Given the description of an element on the screen output the (x, y) to click on. 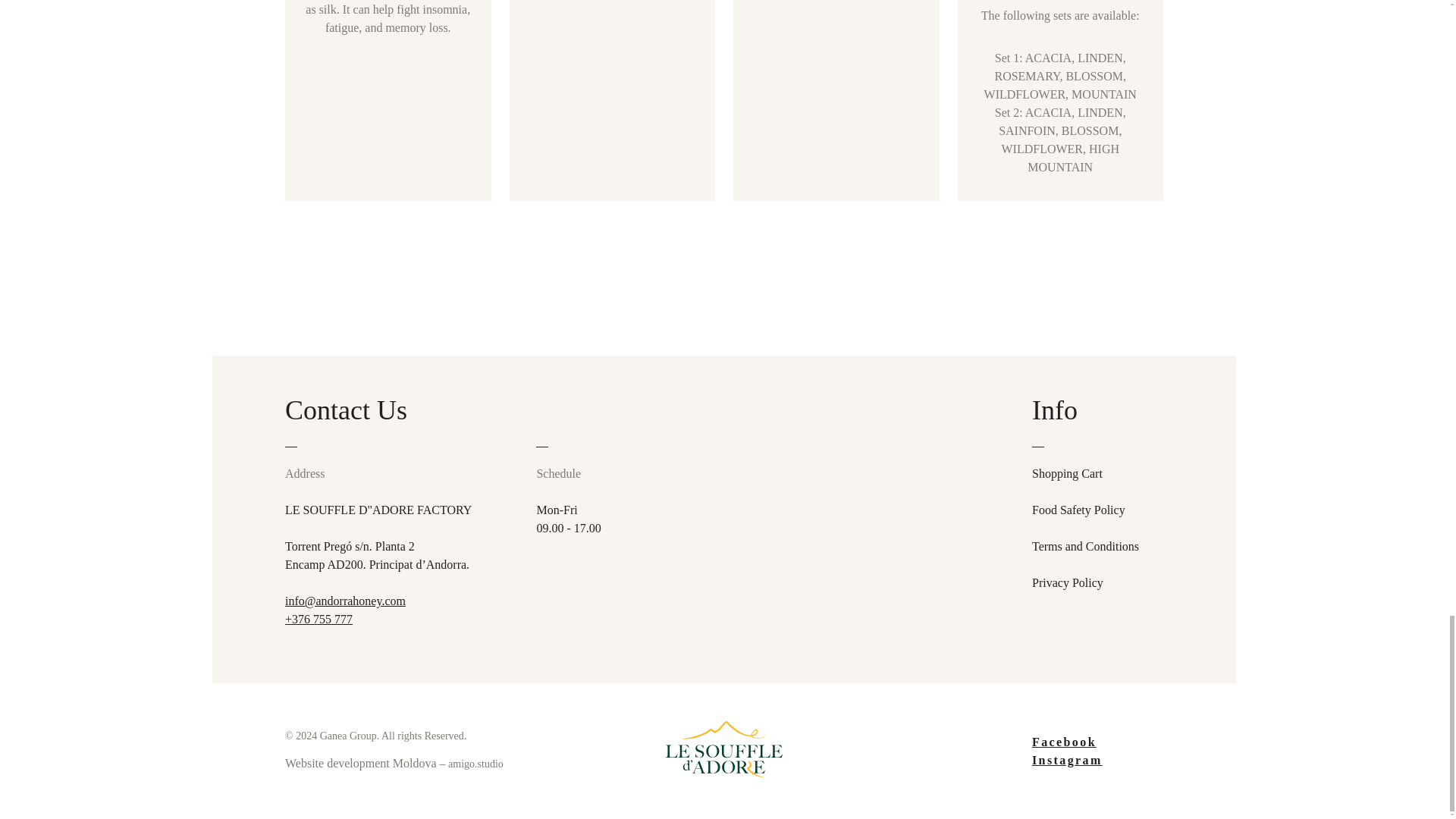
Shopping Cart (1067, 474)
Privacy Policy (1067, 583)
Facebook (1097, 742)
Instagram (1097, 760)
Food Safety Policy (1078, 510)
Terms and Conditions (1085, 546)
